Given the description of an element on the screen output the (x, y) to click on. 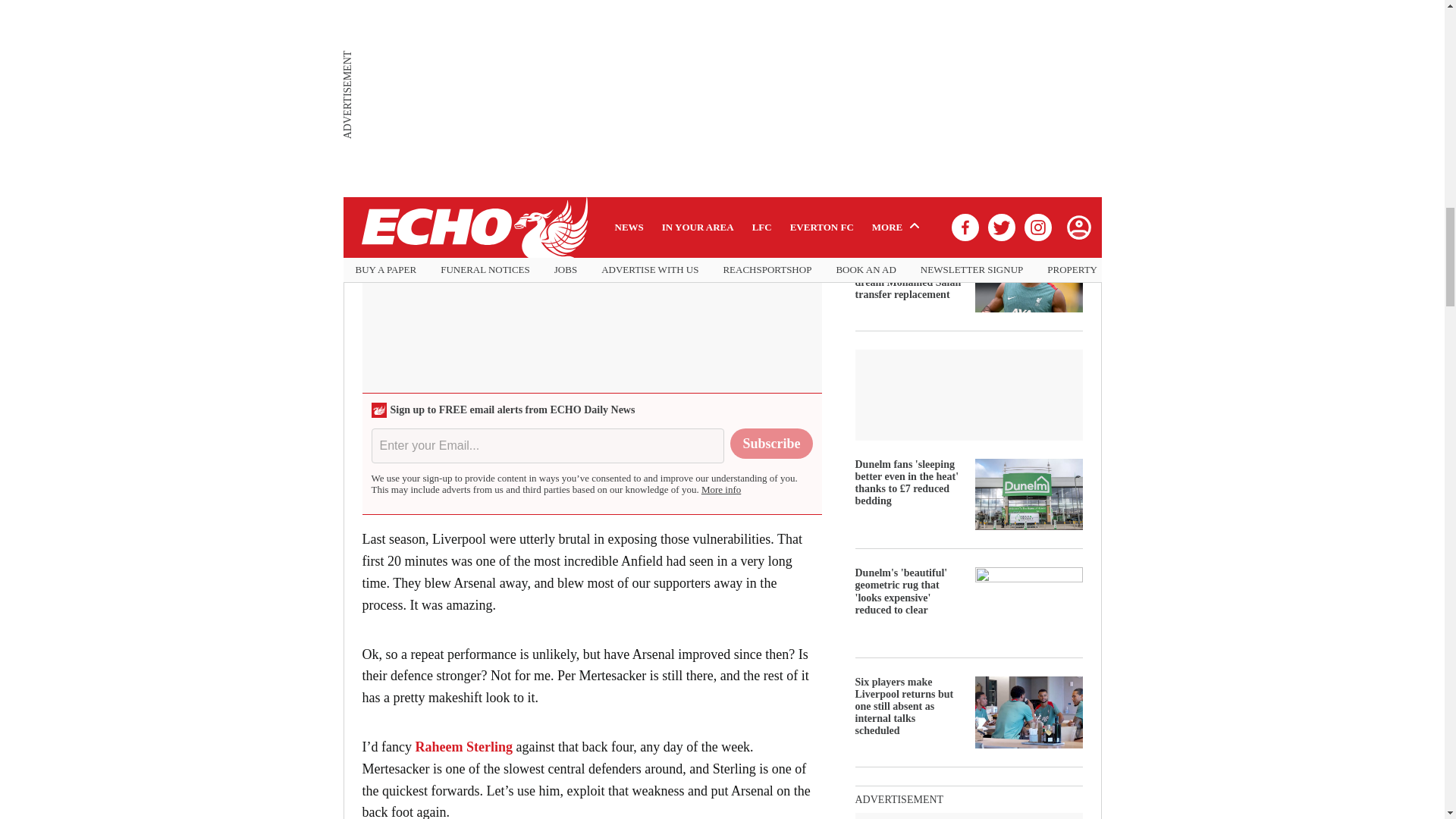
Raheem Sterling (463, 746)
Subscribe (771, 443)
More info (721, 489)
Liverpool FC v Arsenal at Anfield stadium Pics Gareth Jones (539, 45)
